Given the description of an element on the screen output the (x, y) to click on. 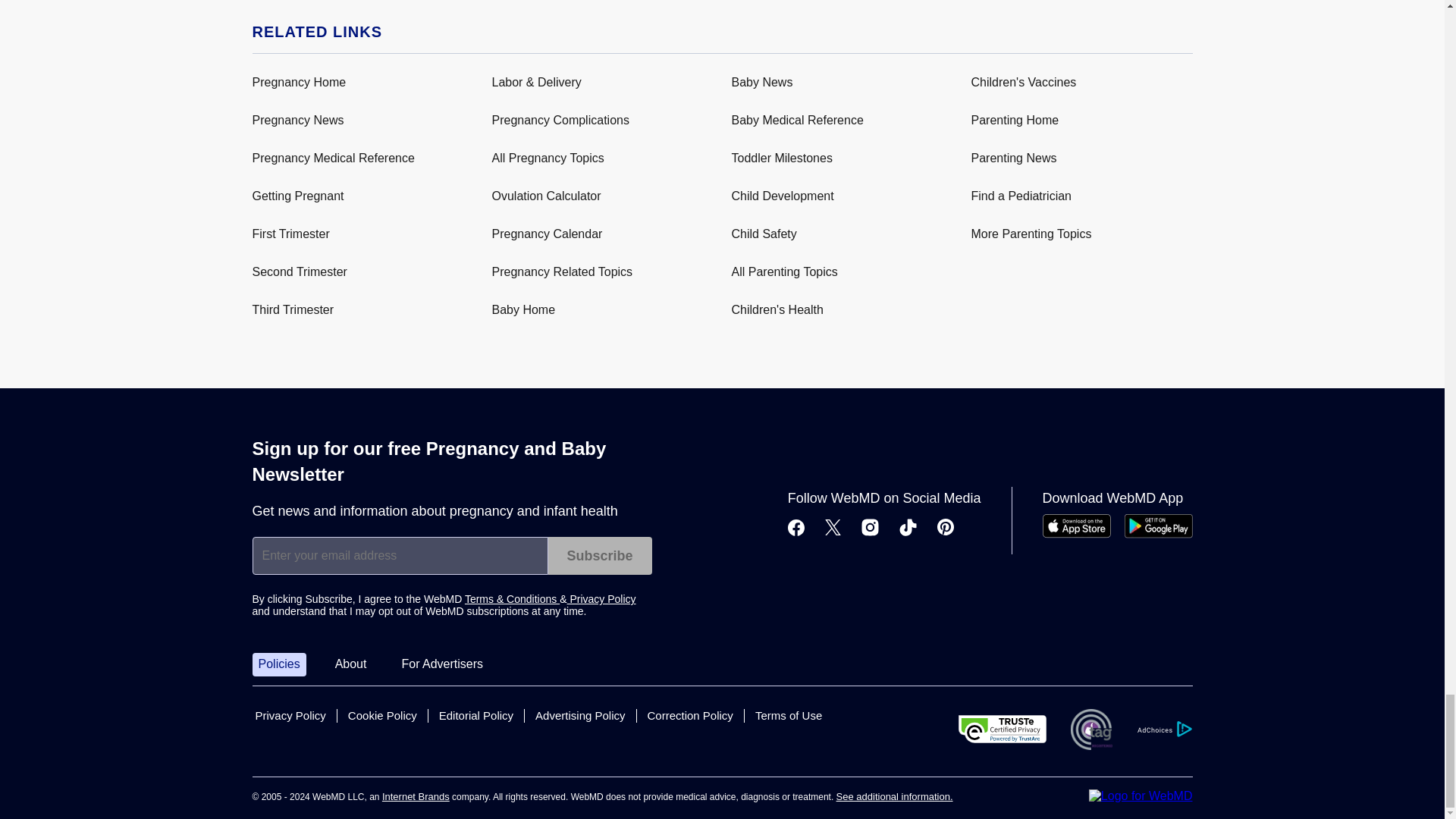
Adchoices (1163, 729)
TAG Registered Seal (1091, 729)
TRUSTe Privacy Certification (1002, 728)
WebMD: Better information. Better health. (1140, 796)
